Given the description of an element on the screen output the (x, y) to click on. 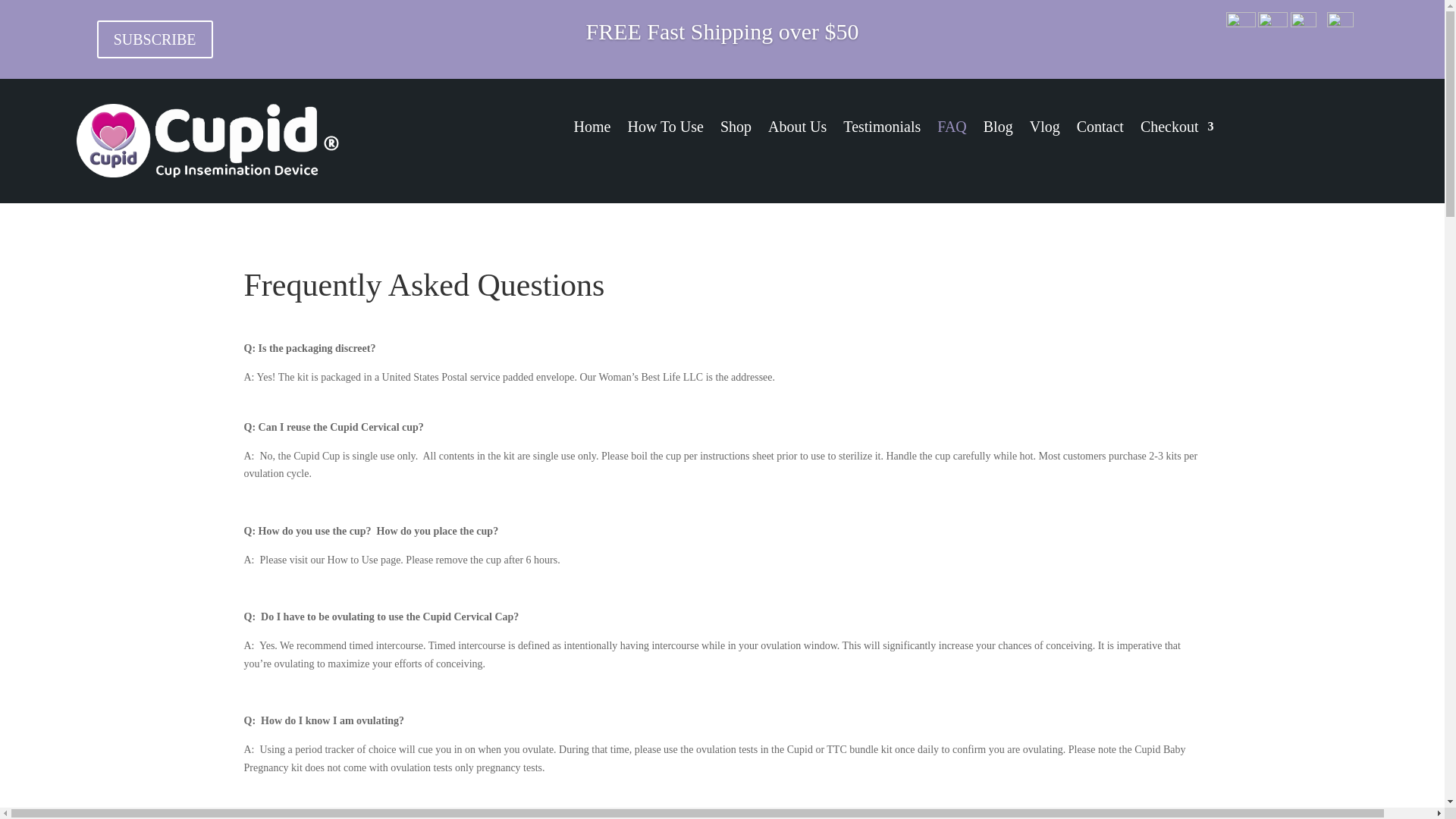
Blog (998, 129)
Checkout (1177, 129)
CupidBaby Conception Cup on Pinterest (1340, 23)
Vlog (1044, 129)
About Us (797, 129)
Home (592, 129)
Shop (735, 129)
How To Use (665, 129)
Conception Cup on YouTube (1303, 23)
Conception Cup on Instagram (1240, 23)
Contact (1100, 129)
FAQ (951, 129)
SUBSCRIBE (154, 39)
Testimonials (881, 129)
Conception Cup on Facebook (1272, 23)
